Given the description of an element on the screen output the (x, y) to click on. 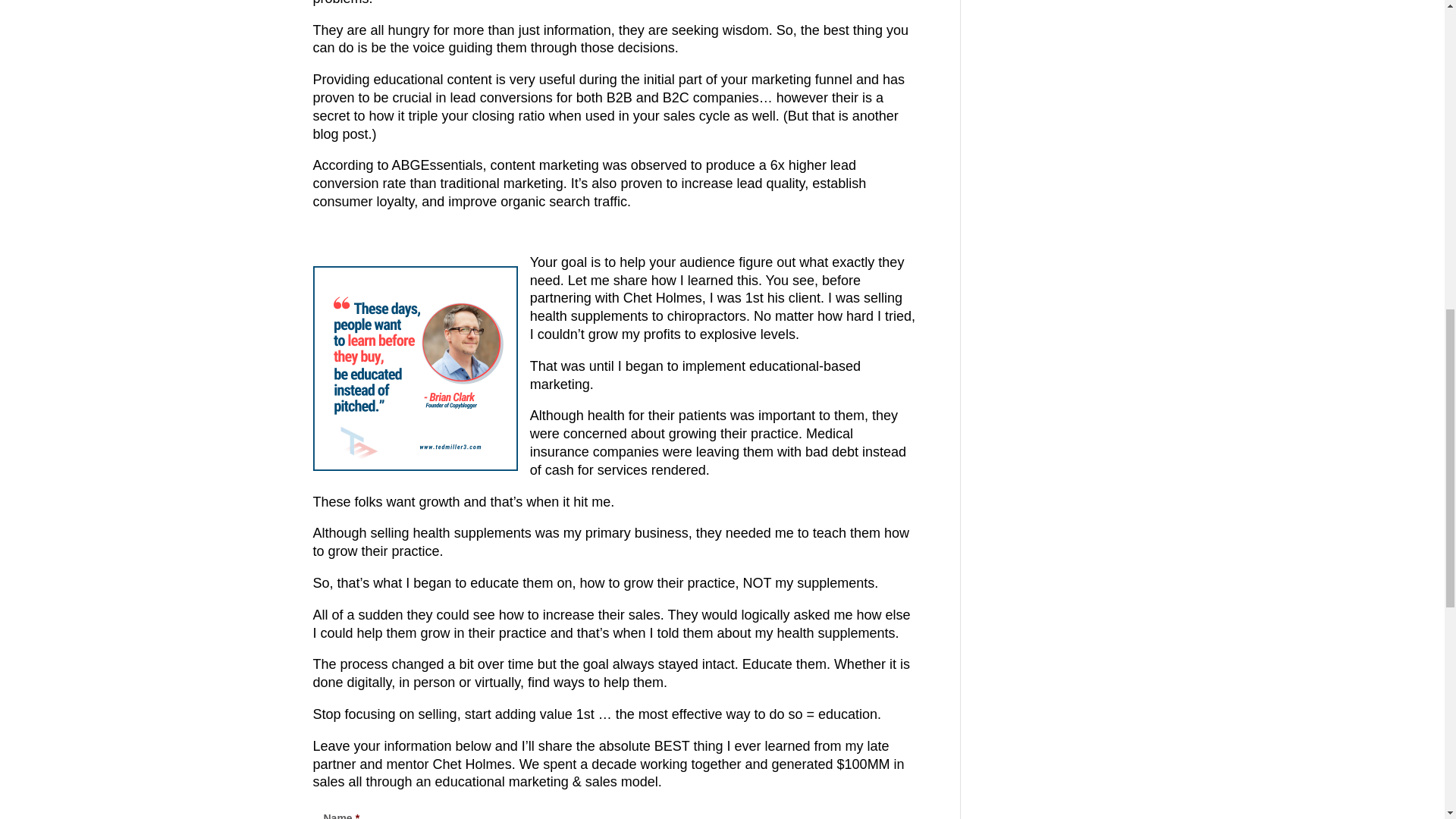
5 (414, 368)
